Given the description of an element on the screen output the (x, y) to click on. 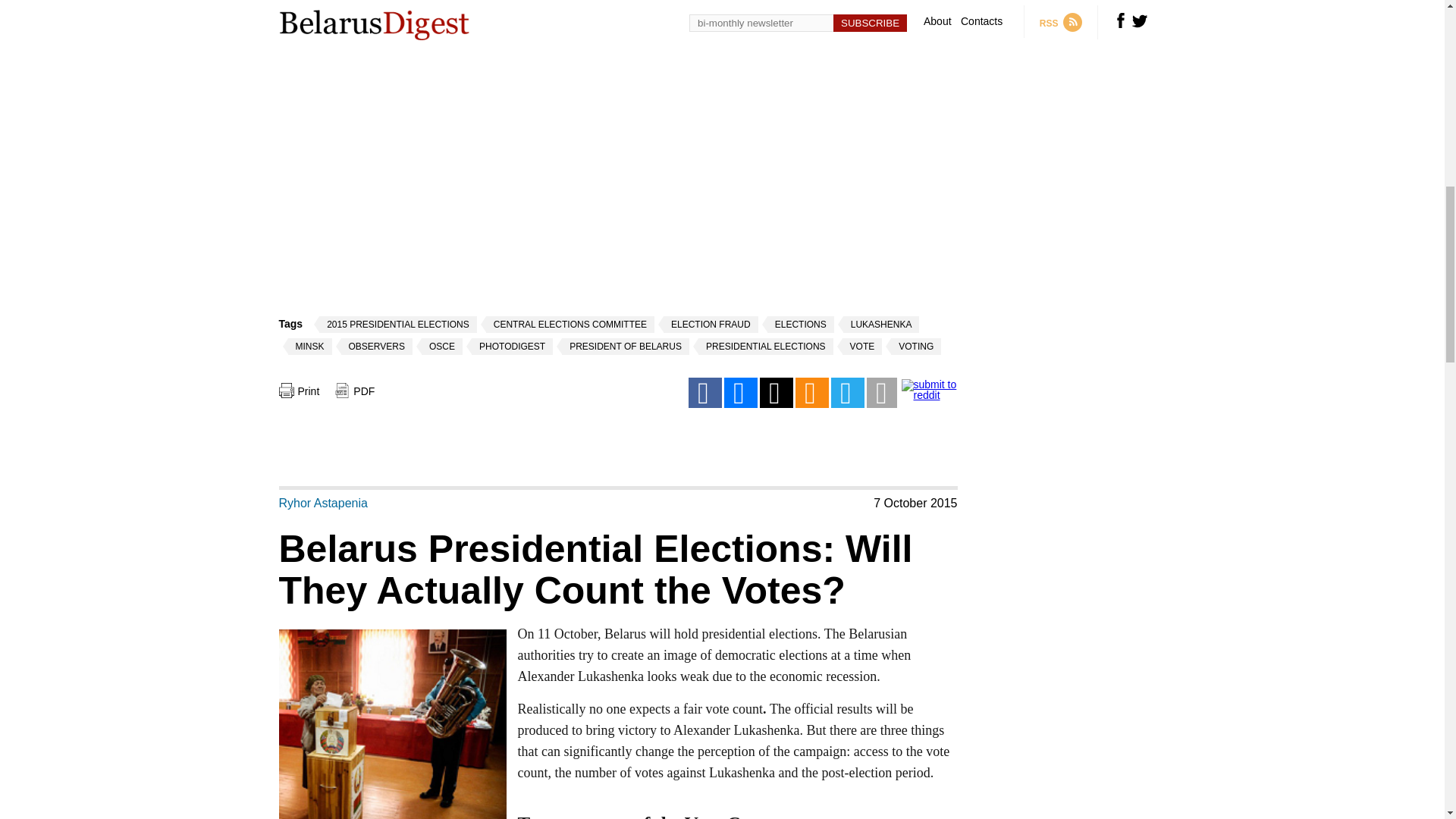
ELECTION FRAUD (708, 324)
PHOTODIGEST (509, 346)
MINSK (306, 346)
ELECTIONS (797, 324)
OBSERVERS (374, 346)
PRESIDENT OF BELARUS (622, 346)
CENTRAL ELECTIONS COMMITTEE (566, 324)
2015 PRESIDENTIAL ELECTIONS (395, 324)
LUKASHENKA (879, 324)
OSCE (439, 346)
